Given the description of an element on the screen output the (x, y) to click on. 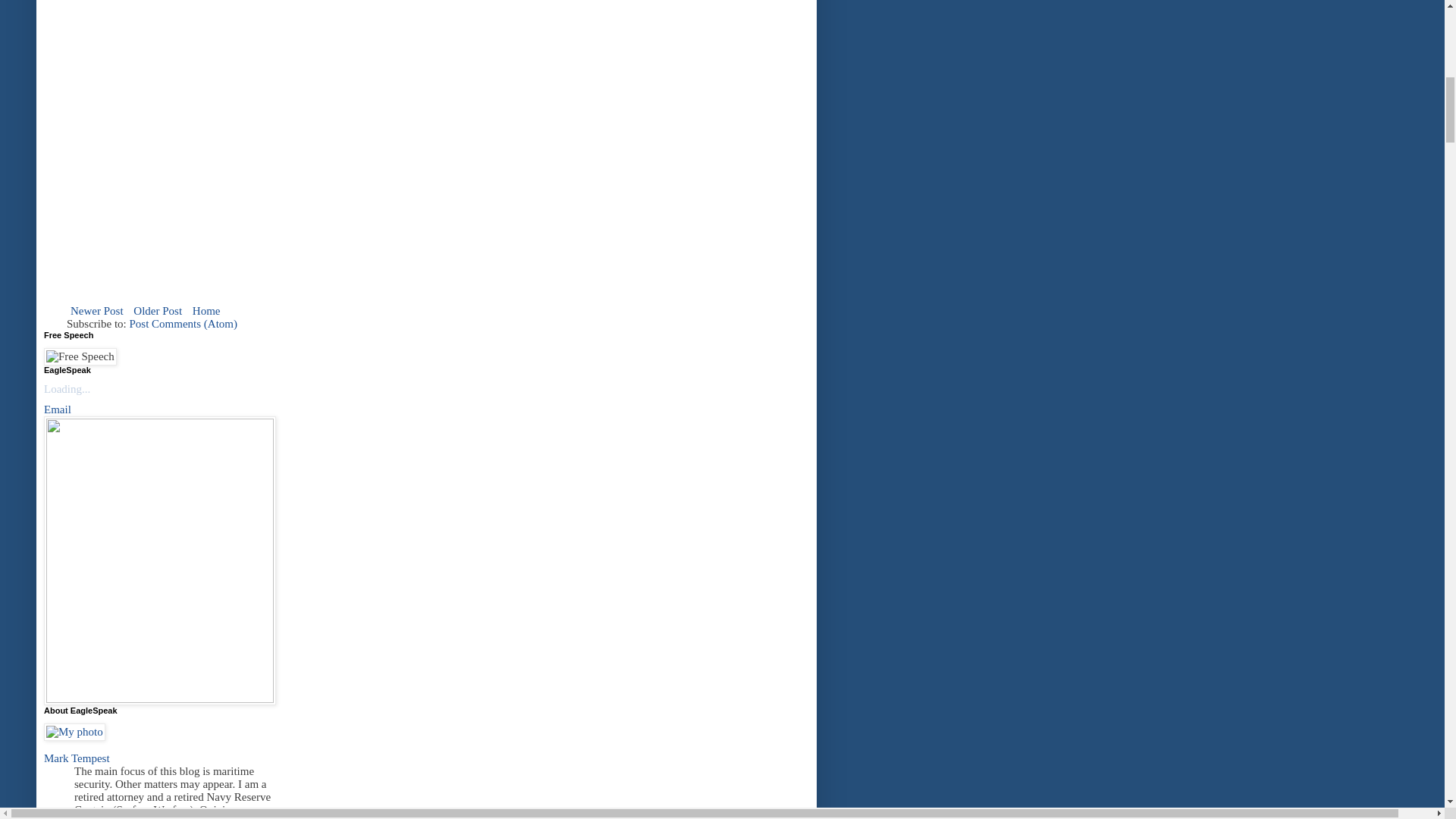
Email (57, 409)
Older Post (157, 311)
Loading... (66, 388)
Newer Post (97, 311)
Older Post (157, 311)
Home (206, 311)
Newer Post (97, 311)
Mark Tempest (76, 758)
